Given the description of an element on the screen output the (x, y) to click on. 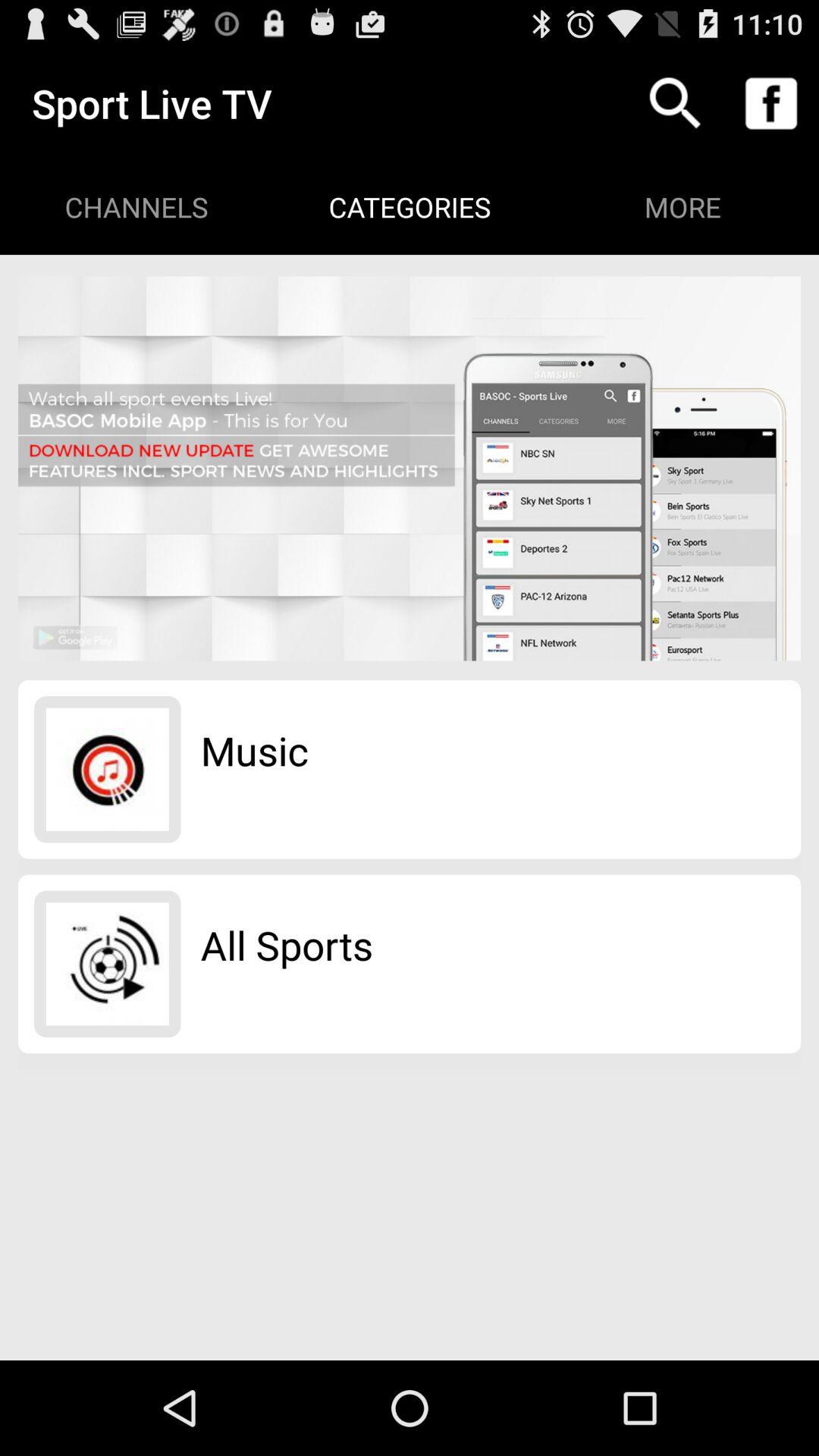
turn off the item to the right of categories app (675, 103)
